Given the description of an element on the screen output the (x, y) to click on. 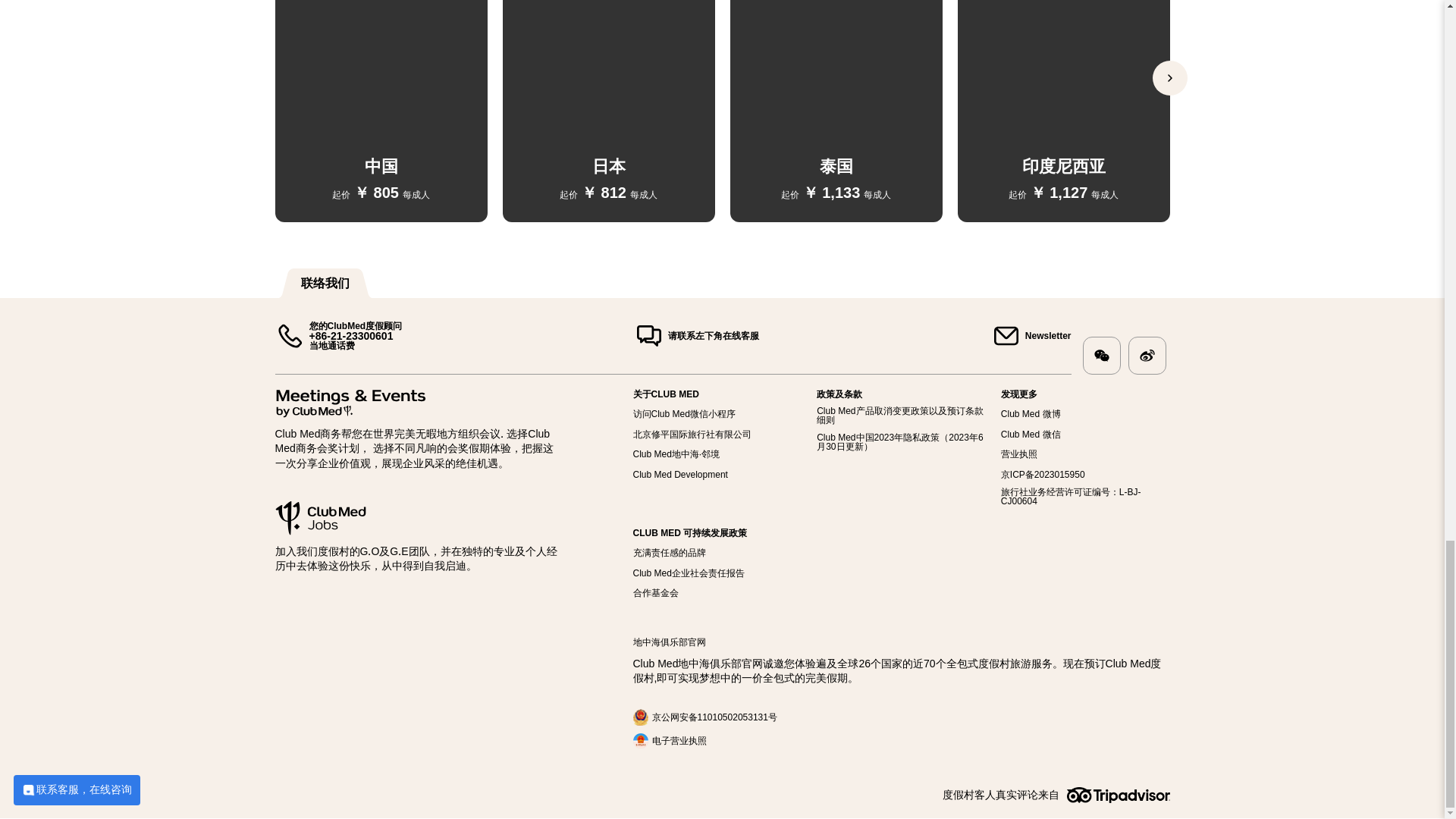
Newsletter (1031, 336)
